Given the description of an element on the screen output the (x, y) to click on. 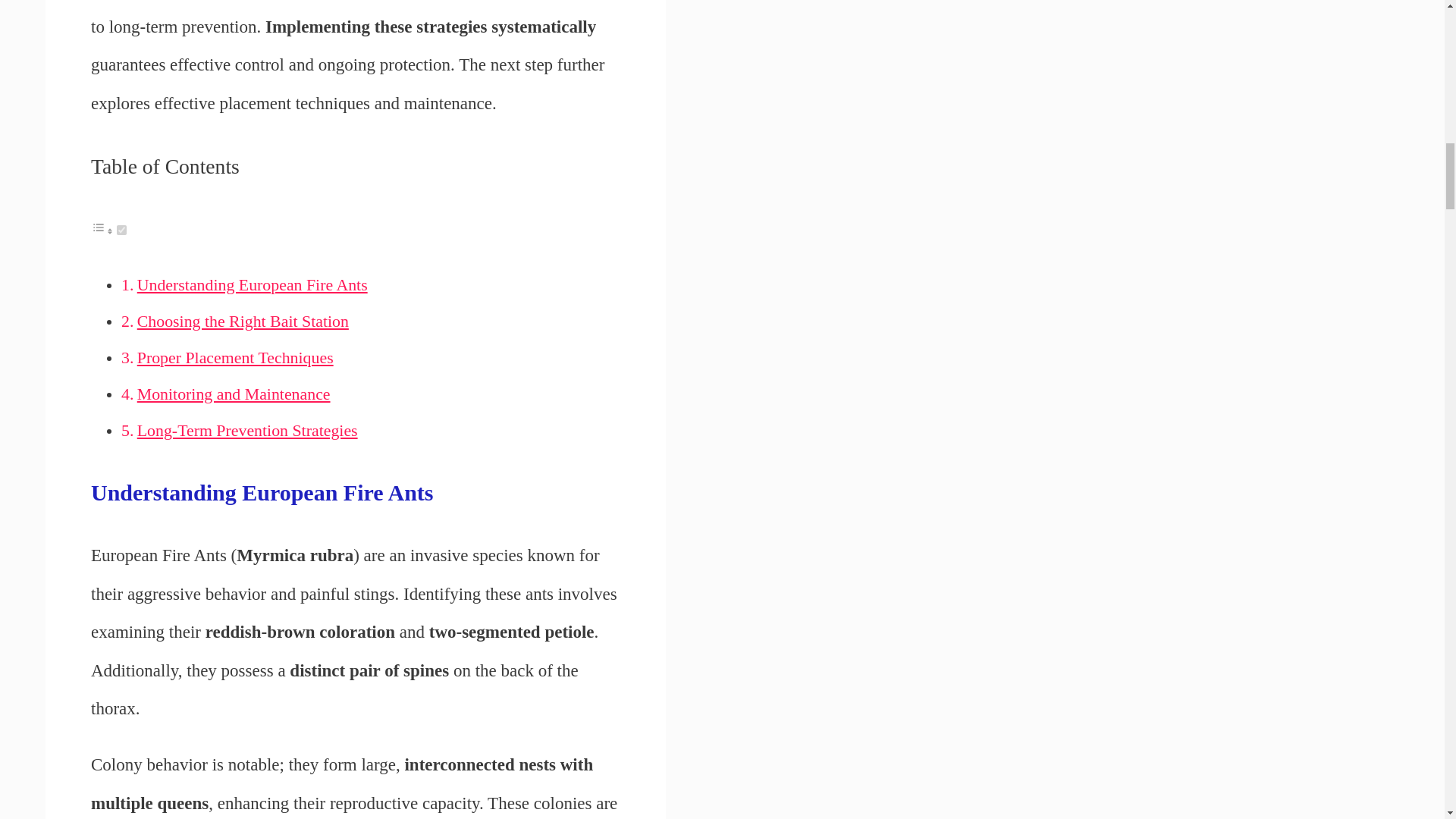
Monitoring and Maintenance (233, 393)
Choosing the Right Bait Station (242, 321)
Understanding European Fire Ants (252, 285)
Choosing the Right Bait Station (242, 321)
Understanding European Fire Ants (252, 285)
on (121, 230)
Long-Term Prevention Strategies (247, 430)
Monitoring and Maintenance (233, 393)
Proper Placement Techniques (234, 357)
Proper Placement Techniques (234, 357)
Long-Term Prevention Strategies (247, 430)
